Given the description of an element on the screen output the (x, y) to click on. 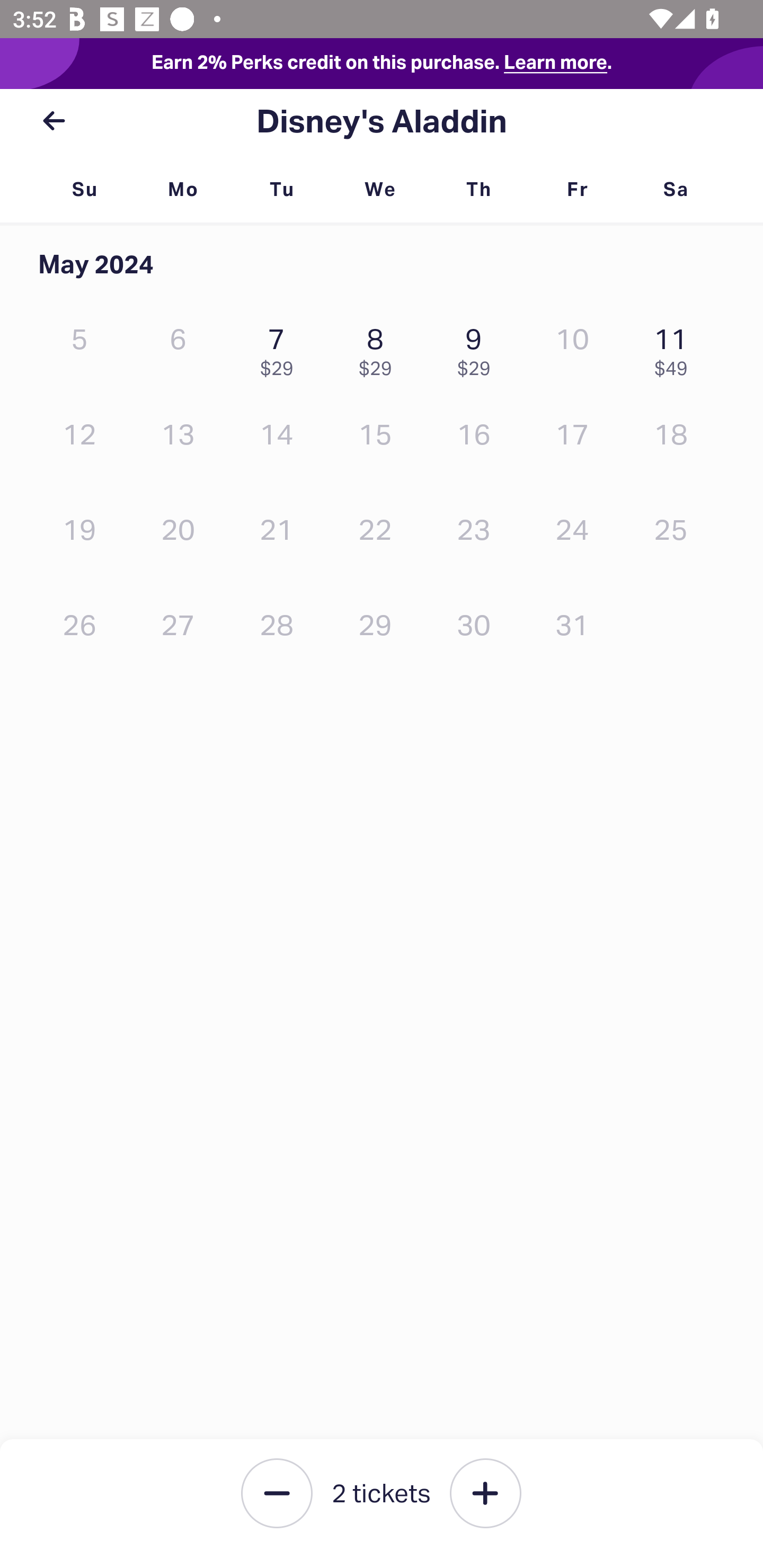
Earn 2% Perks credit on this purchase. Learn more. (381, 63)
back button (53, 120)
7 $29 (281, 347)
8 $29 (379, 347)
9 $29 (478, 347)
11 $49 (675, 347)
